Given the description of an element on the screen output the (x, y) to click on. 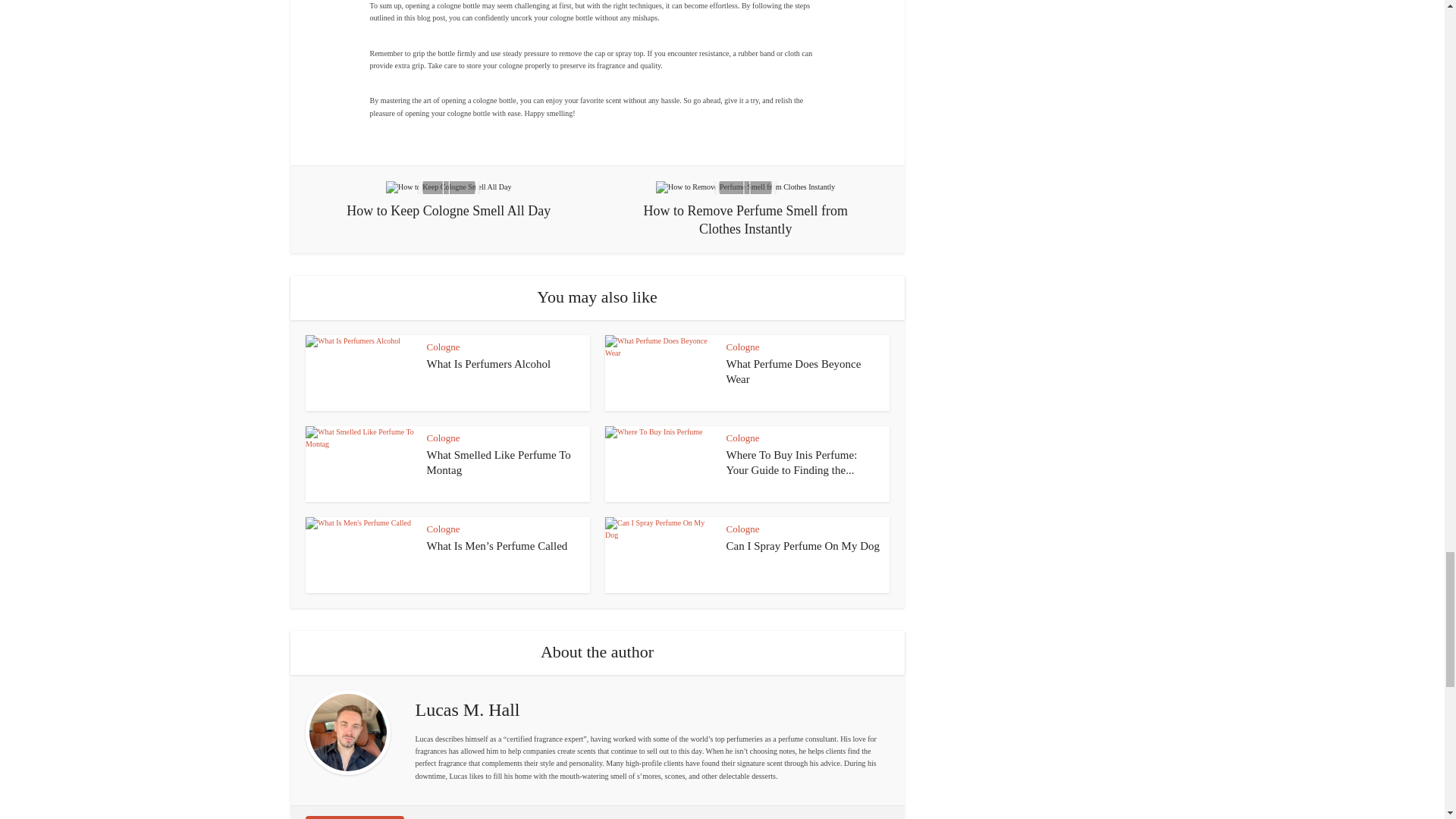
What Perfume Does Beyonce Wear 6 (659, 372)
What Smelled Like Perfume To Montag 7 (359, 463)
What Is Perfumers Alcohol (488, 363)
How to Keep Cologne Smell All Day 3 (448, 186)
What Smelled Like Perfume To Montag (498, 461)
What Is Perfumers Alcohol 5 (359, 372)
What Perfume Does Beyonce Wear (793, 370)
How to Remove Perfume Smell from Clothes Instantly 4 (745, 186)
